Given the description of an element on the screen output the (x, y) to click on. 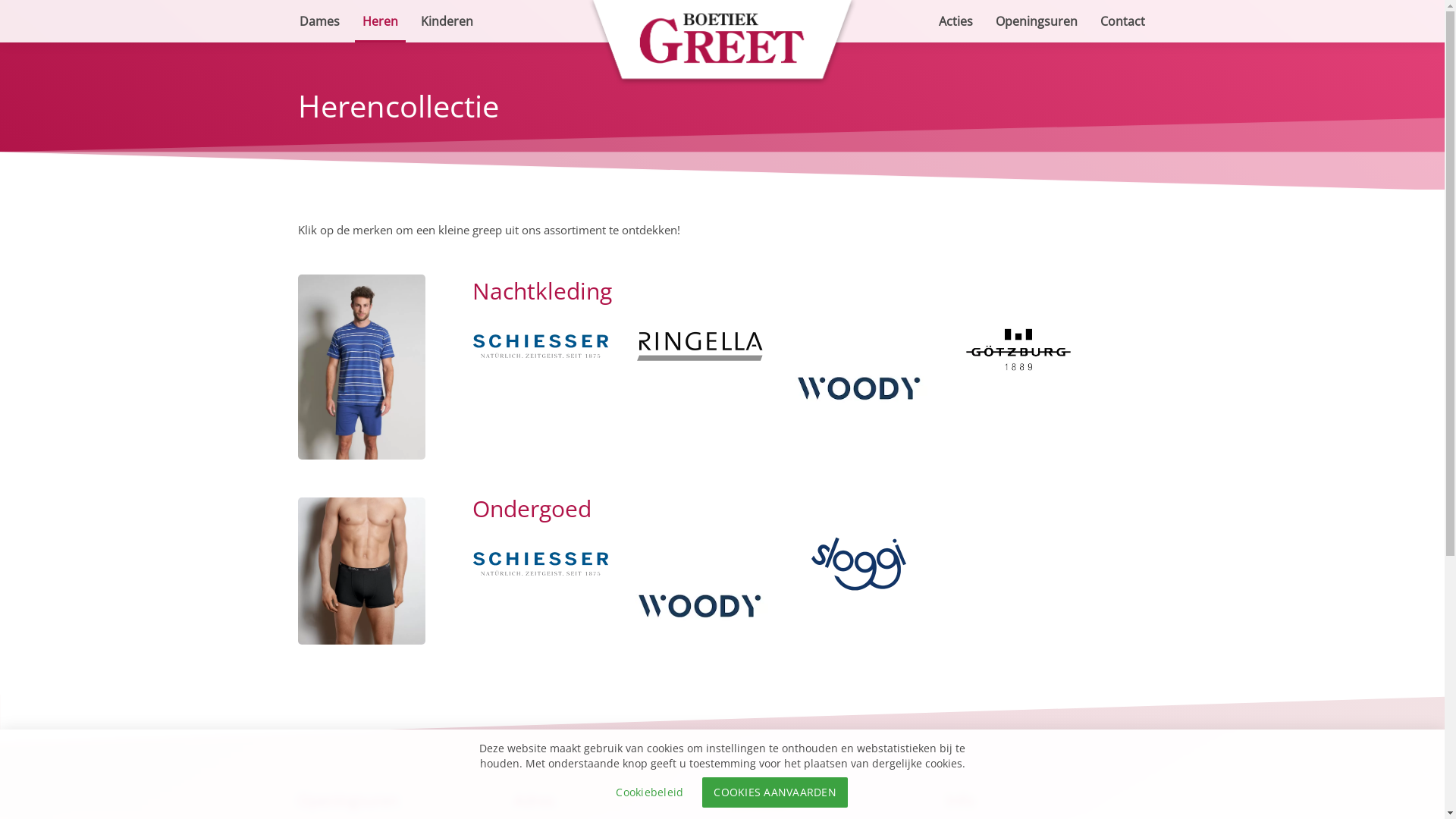
Acties Element type: text (955, 21)
COOKIES AANVAARDEN Element type: text (774, 792)
Contact Element type: text (1122, 21)
Cookiebeleid Element type: text (649, 792)
Dames Element type: text (319, 21)
Openingsuren Element type: text (1036, 21)
Kinderen Element type: text (446, 21)
Heren Element type: text (379, 21)
